Given the description of an element on the screen output the (x, y) to click on. 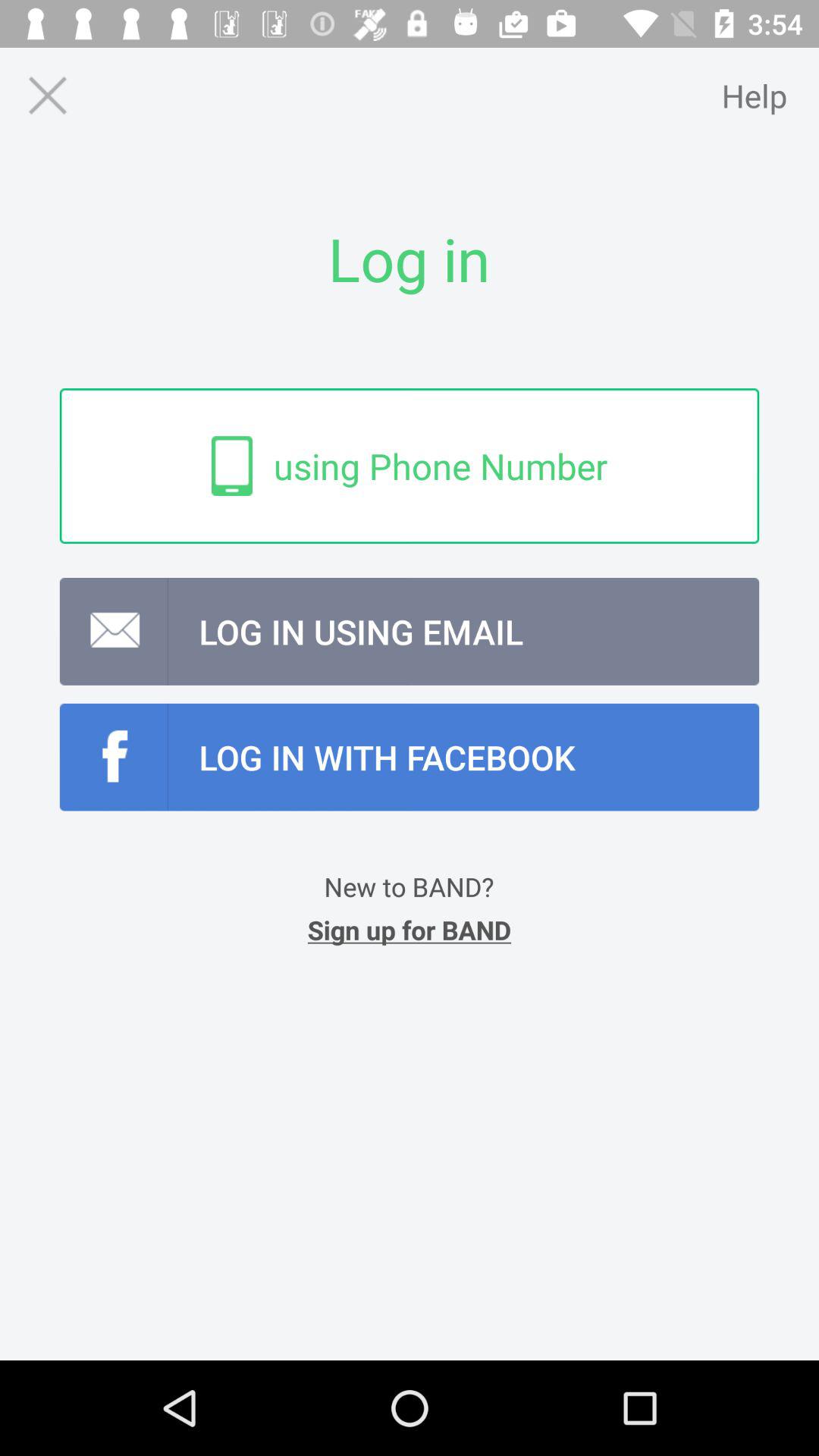
exit (47, 95)
